Given the description of an element on the screen output the (x, y) to click on. 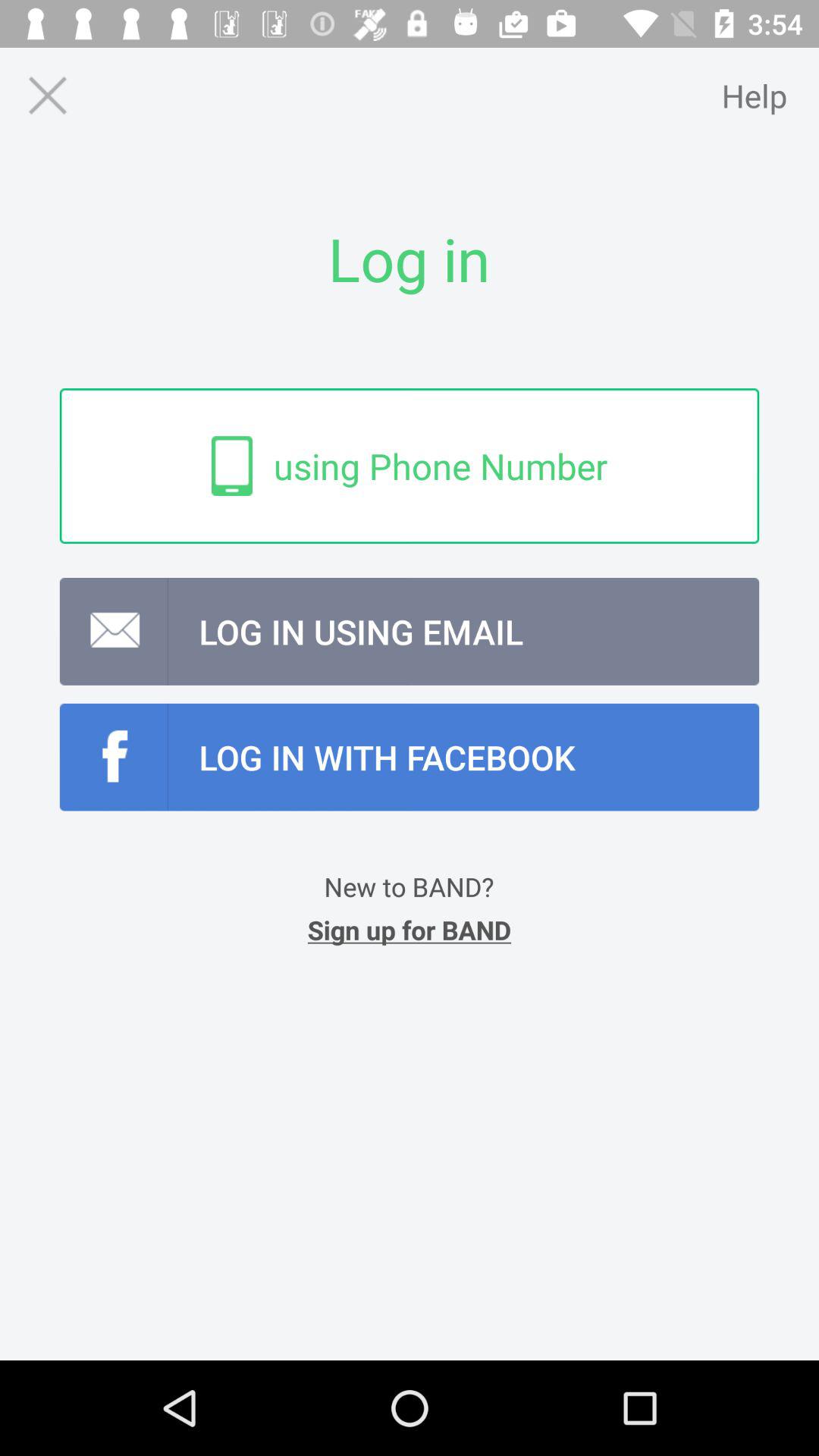
exit (47, 95)
